Given the description of an element on the screen output the (x, y) to click on. 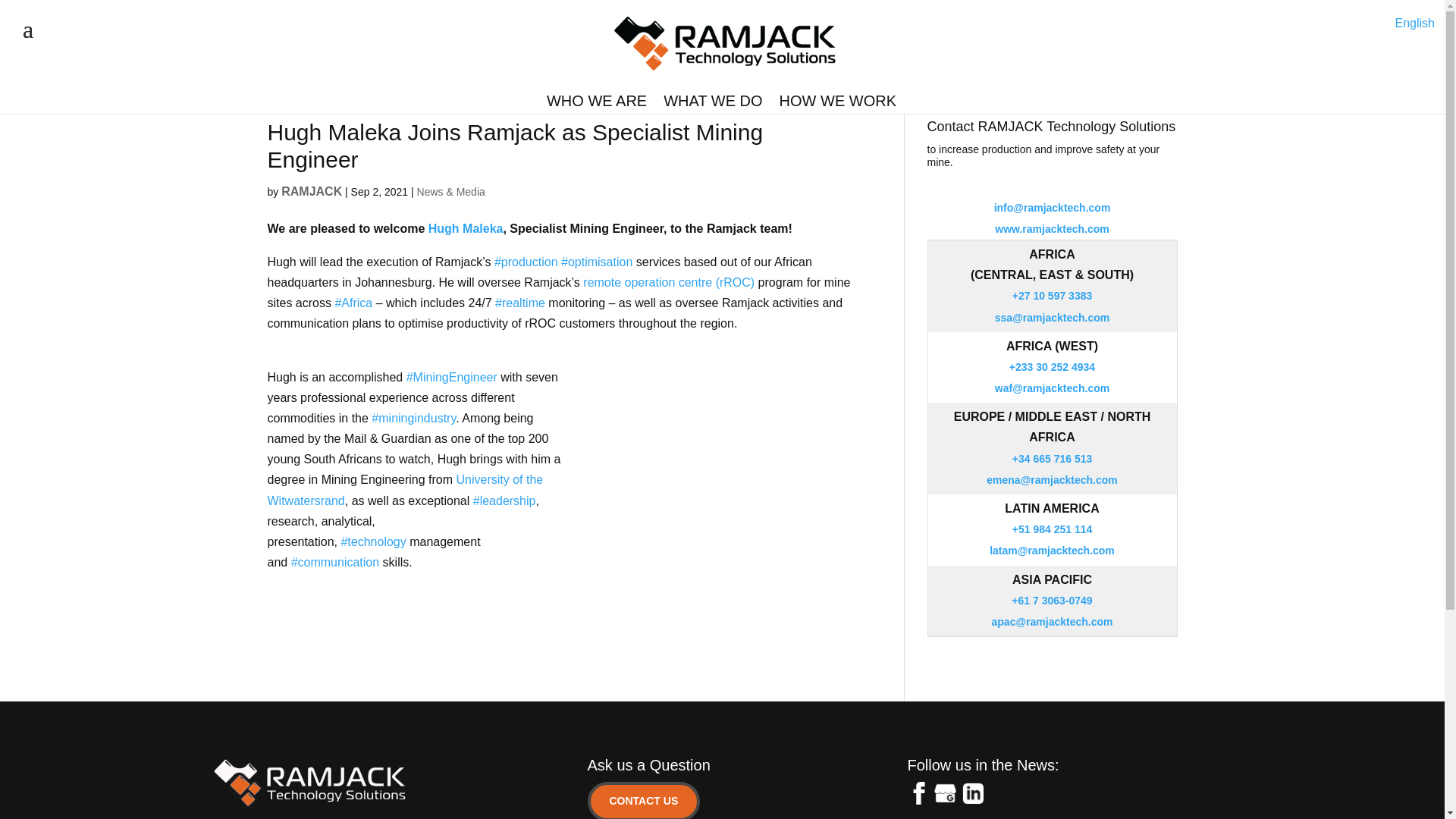
Facebook (918, 793)
Go to RAMJACK. (282, 78)
LinkedIn (970, 793)
Posts by RAMJACK (311, 190)
Google My Business (945, 793)
